Given the description of an element on the screen output the (x, y) to click on. 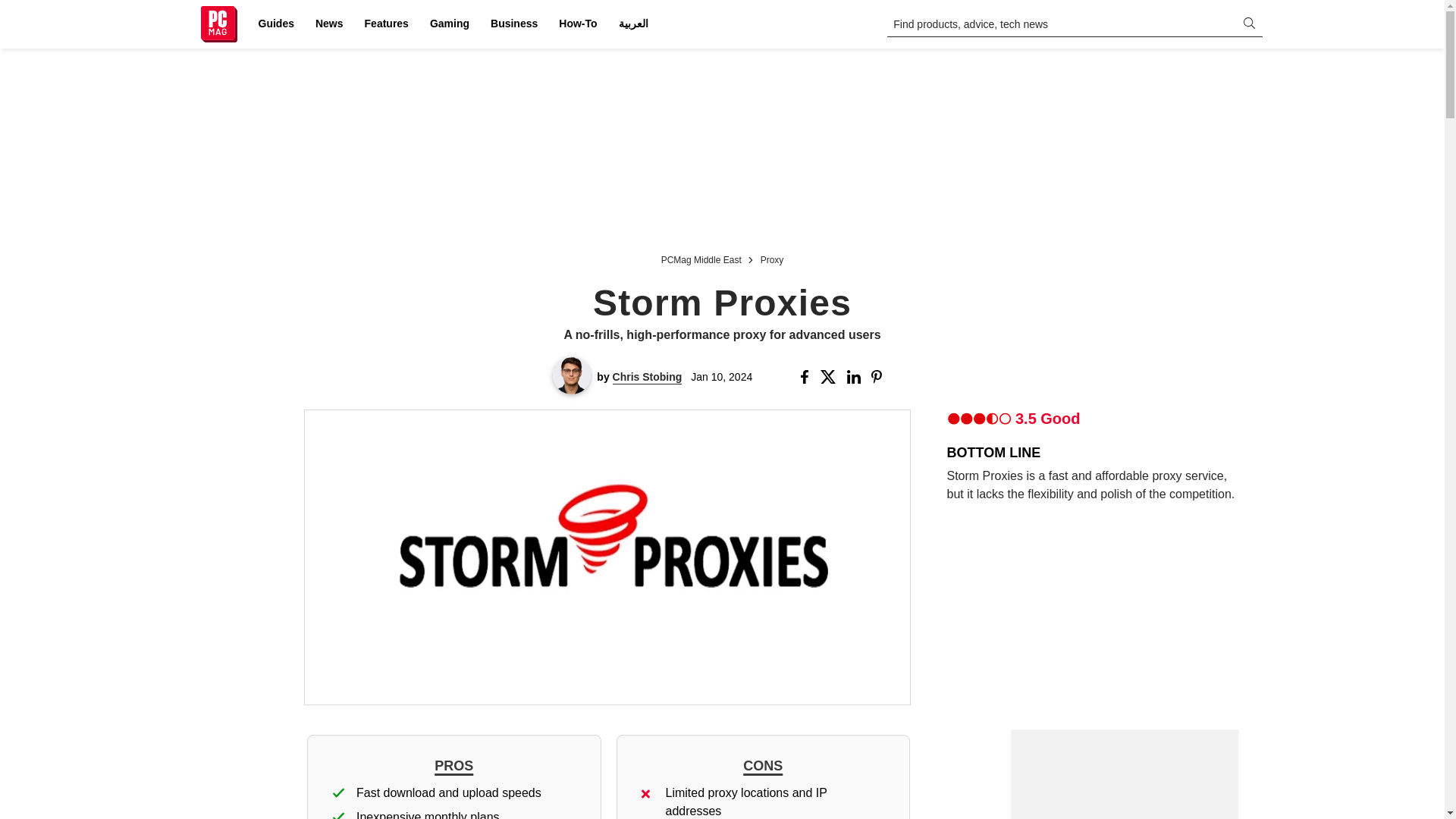
Business (513, 24)
PCMag Middle East (701, 258)
Gaming (449, 24)
Share this Story on X (831, 377)
Share this Story on Facebook (806, 377)
Share this Story on Pinterest (880, 377)
How-To (577, 24)
Features (386, 24)
Chris Stobing (647, 377)
